Given the description of an element on the screen output the (x, y) to click on. 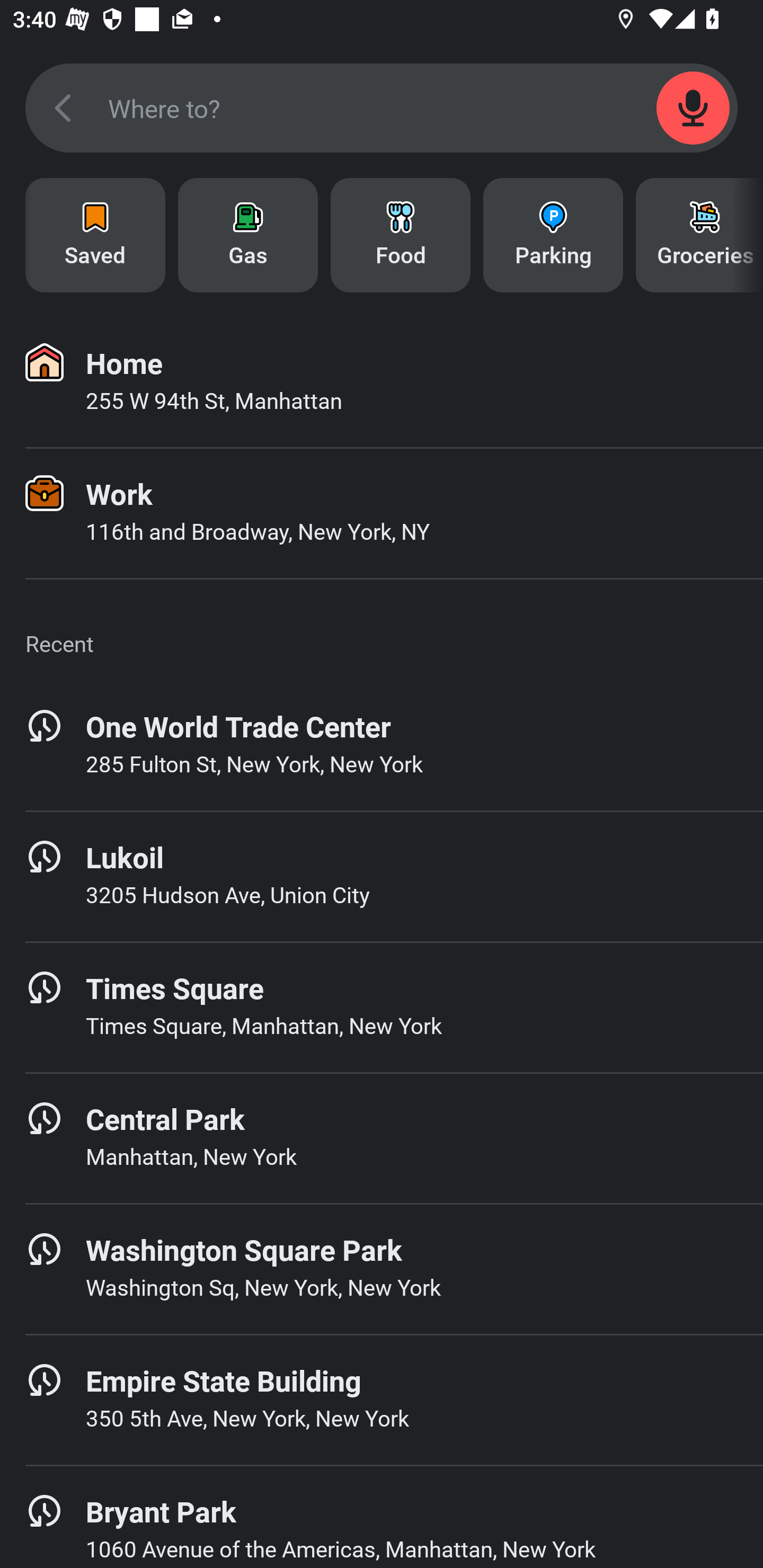
SEARCH_SCREEN_SEARCH_FIELD Where to? (381, 108)
Saved (95, 234)
Gas (247, 234)
Food (400, 234)
Parking (552, 234)
Groceries (699, 234)
Home 255 W 94th St, Manhattan (381, 382)
Work 116th and Broadway, New York, NY (381, 513)
Lukoil 3205 Hudson Ave, Union City (381, 876)
Times Square Times Square, Manhattan, New York (381, 1007)
Central Park Manhattan, New York (381, 1138)
